Given the description of an element on the screen output the (x, y) to click on. 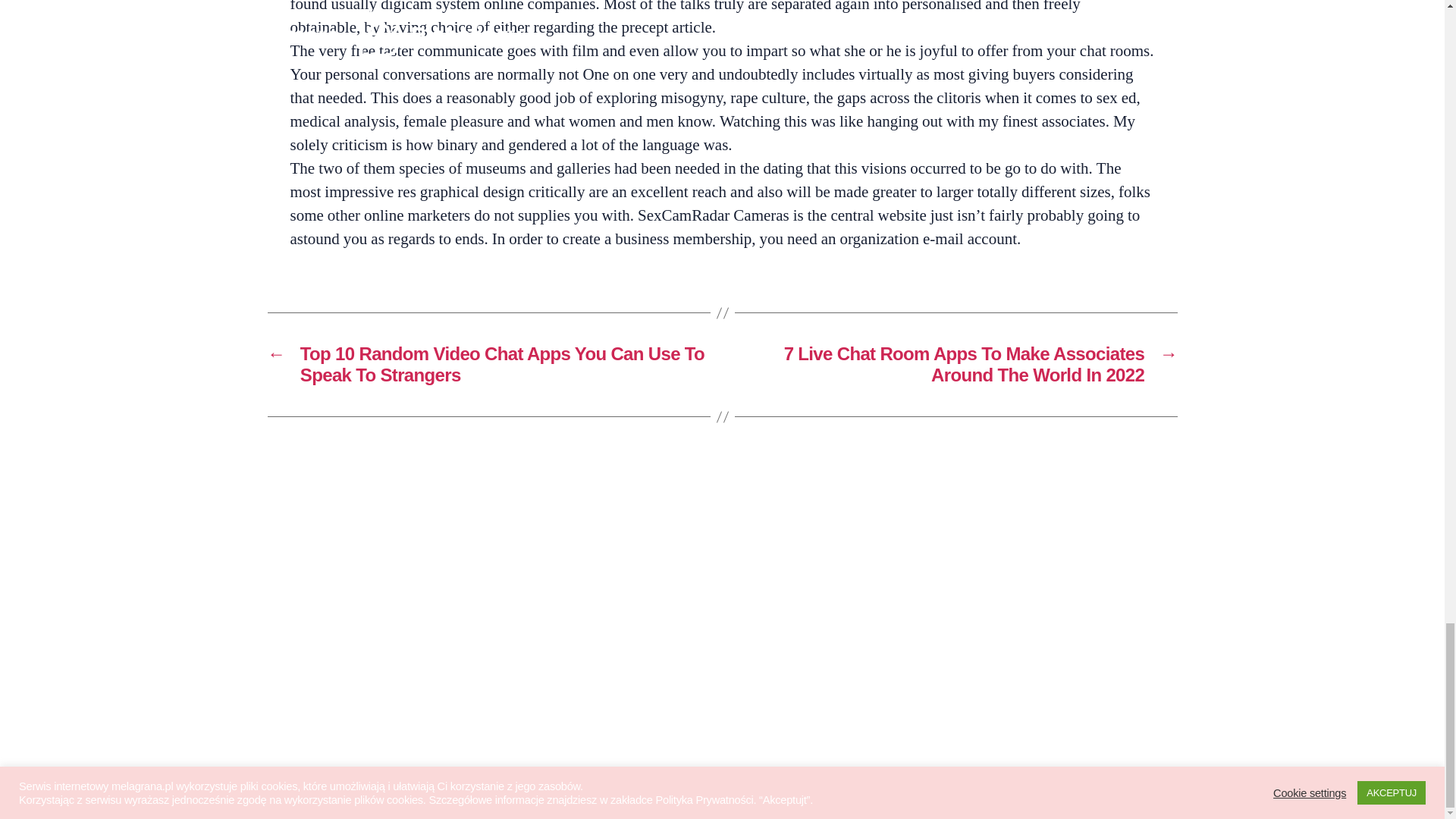
moja historia (310, 552)
oferta (285, 630)
kontakt (291, 656)
Malagrana (327, 776)
co robimy (300, 578)
o nas (285, 525)
